Given the description of an element on the screen output the (x, y) to click on. 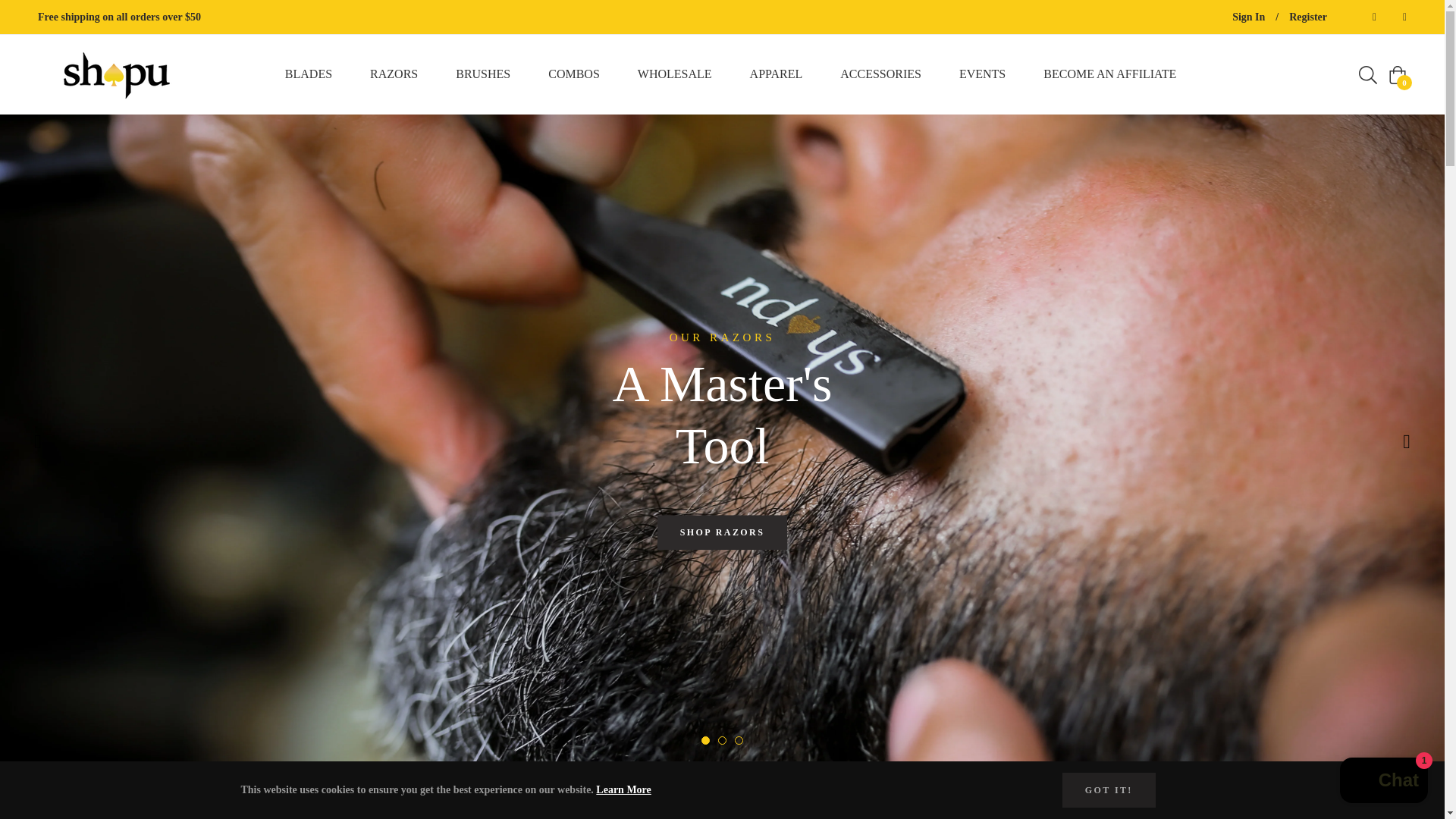
1 (704, 740)
Register (1307, 17)
RAZORS (393, 74)
2 (721, 740)
COMBOS (573, 74)
ACCESSORIES (880, 74)
Previous (37, 442)
BLADES (308, 74)
3 (737, 740)
Shopping Cart (1397, 75)
Shapu Blades on Facebook (1369, 16)
Shapu Blades on Instagram (1400, 16)
APPAREL (776, 74)
BRUSHES (482, 74)
BECOME AN AFFILIATE (1110, 74)
